Given the description of an element on the screen output the (x, y) to click on. 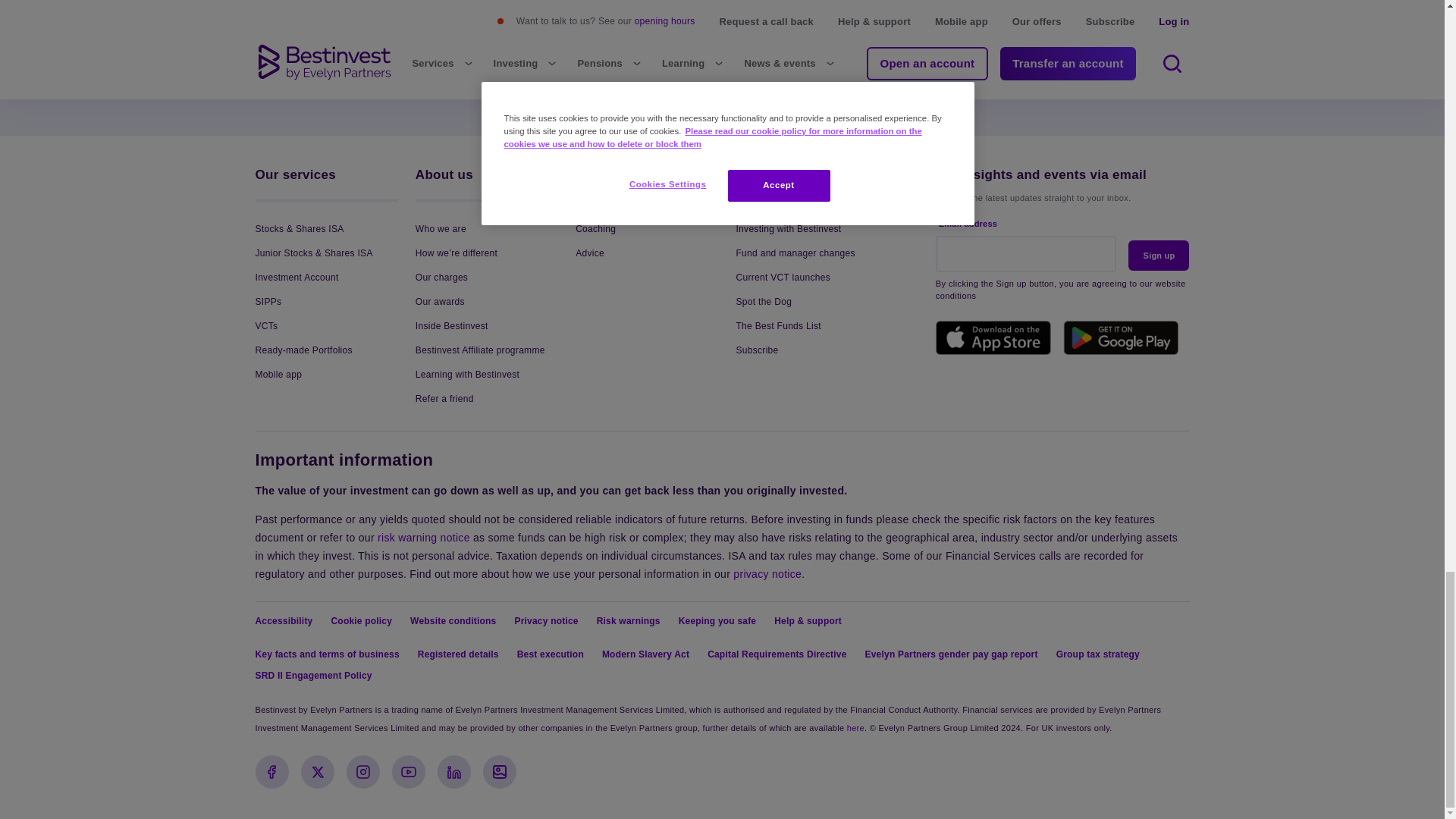
GQG Partners funds update with Brian Kersmanc (1076, 7)
What to expect from a financial coaching call  (366, 7)
Registered details (855, 727)
Privacy notice (767, 573)
